Given the description of an element on the screen output the (x, y) to click on. 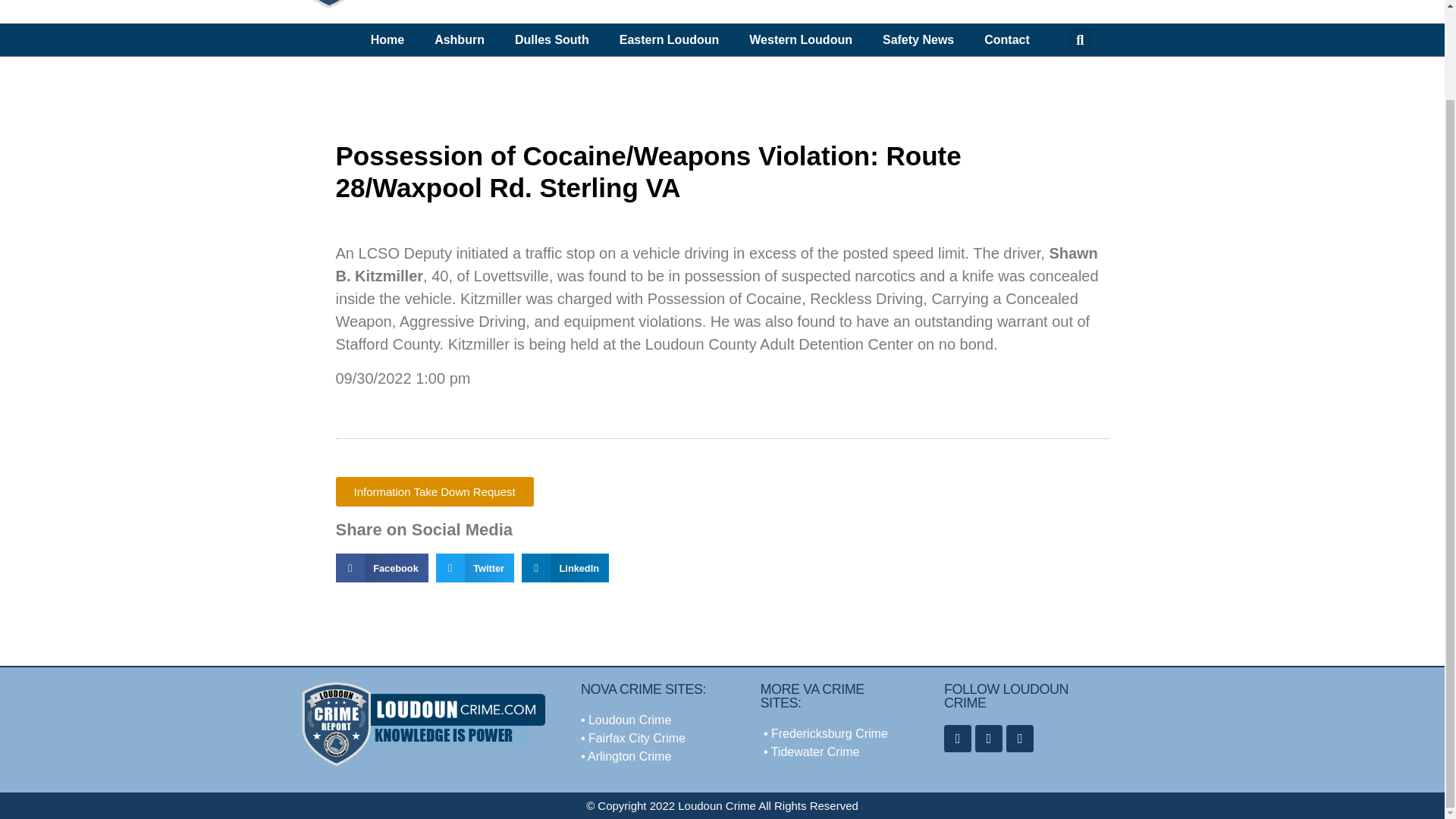
Home (387, 39)
Information Take Down Request (433, 491)
Eastern Loudoun (669, 39)
Tidewater Crime (815, 751)
Dulles South (551, 39)
Arlington Crime (629, 756)
Fairfax City Crime (636, 738)
Western Loudoun (800, 39)
Loudoun Crime (629, 719)
Ashburn (459, 39)
